Given the description of an element on the screen output the (x, y) to click on. 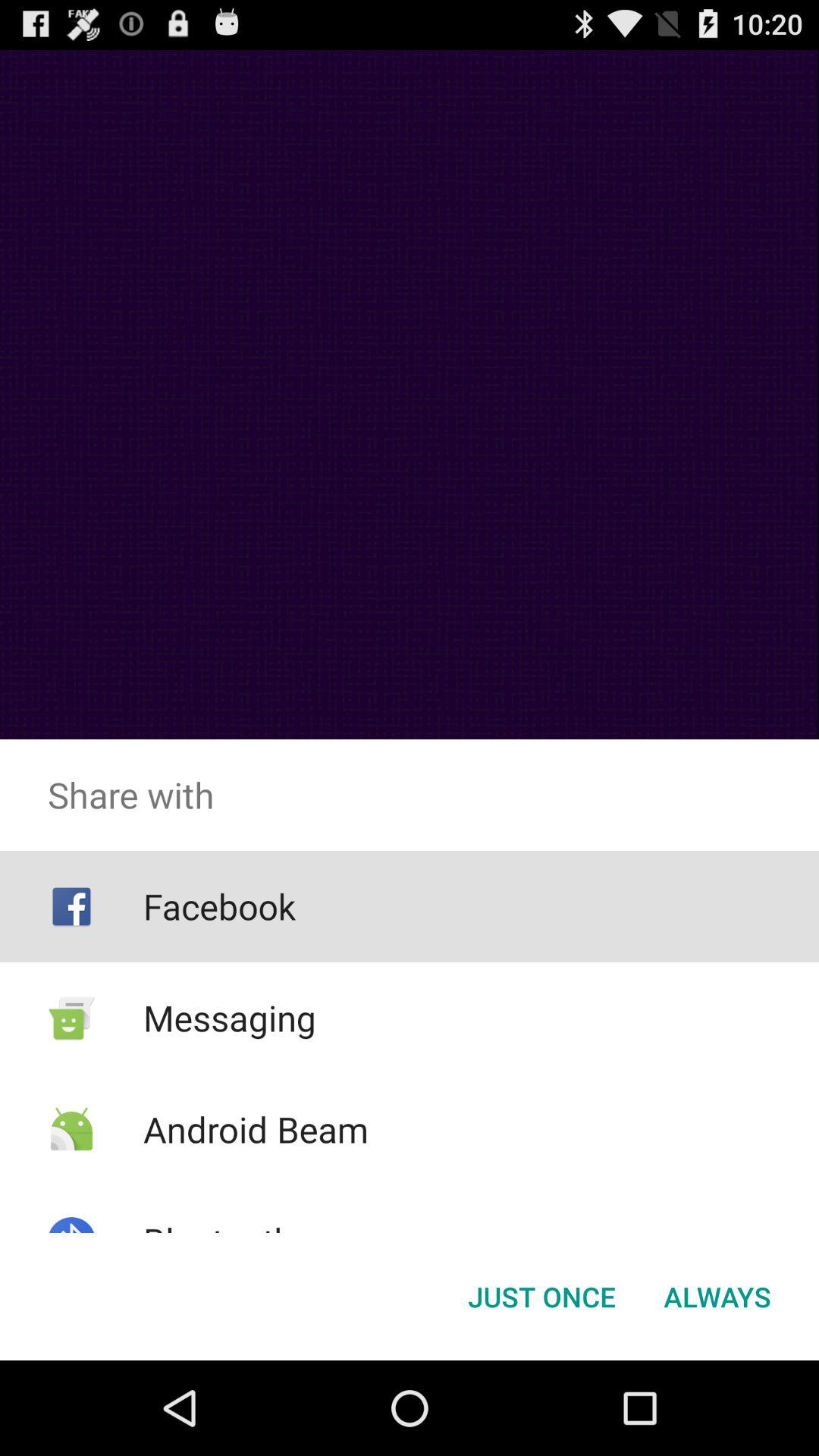
choose button next to just once button (717, 1296)
